Given the description of an element on the screen output the (x, y) to click on. 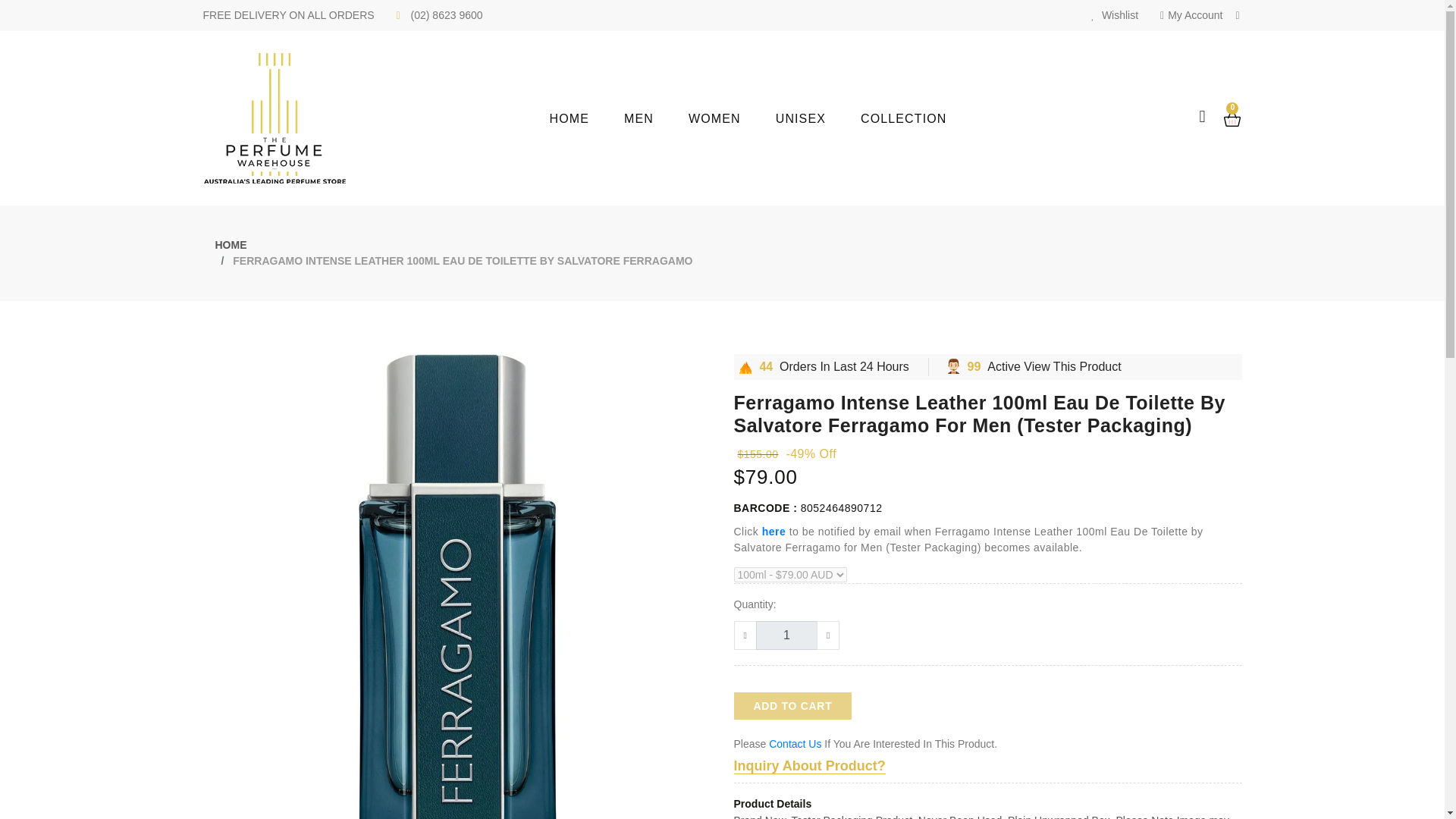
UNISEX (818, 117)
HOME (587, 117)
COLLECTION (920, 117)
Inquiry About Product? (809, 765)
here (773, 531)
Wishlist (1114, 15)
1 (785, 635)
HOME (231, 244)
MEN (656, 117)
WOMEN (732, 117)
ADD TO CART (792, 705)
Contact Us (794, 743)
